Given the description of an element on the screen output the (x, y) to click on. 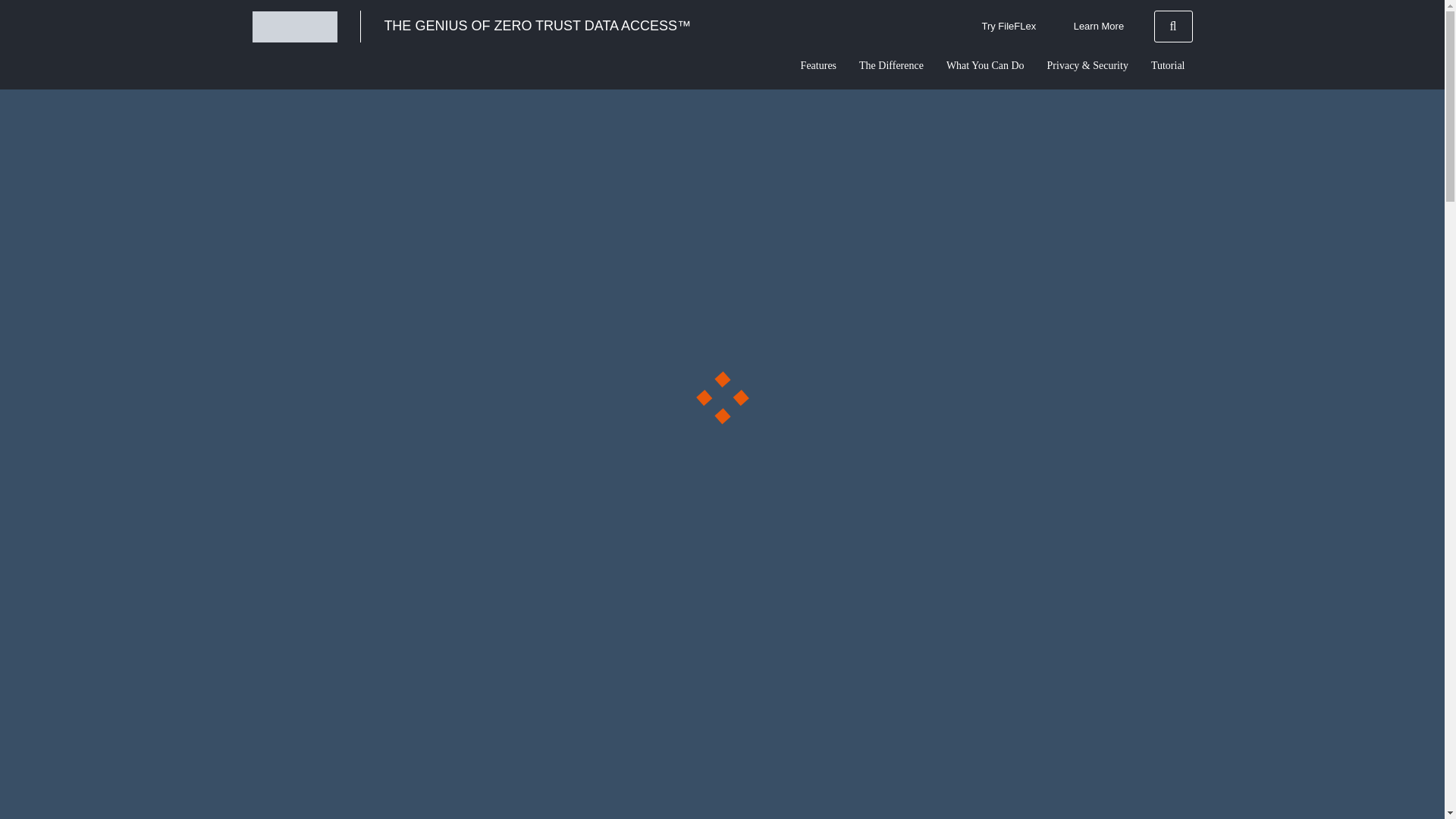
Search (1173, 26)
Try FileFLex (1008, 26)
Watch the Video (272, 493)
The Difference (891, 58)
What You Can Do (984, 58)
Home - Drobo NAS (294, 26)
Learn More (1098, 26)
